Given the description of an element on the screen output the (x, y) to click on. 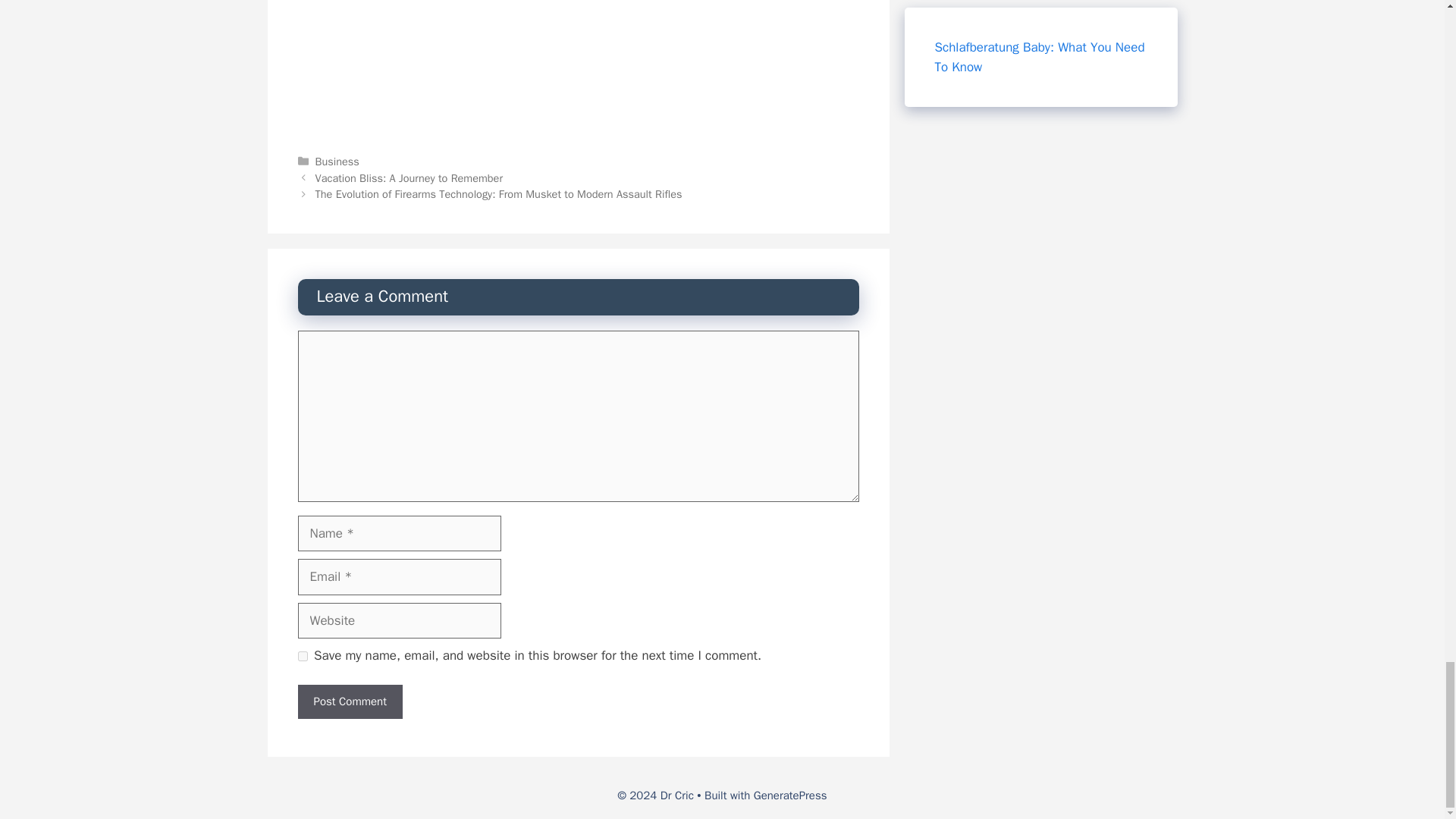
Business (337, 161)
Vacation Bliss: A Journey to Remember (408, 178)
Post Comment (349, 701)
GeneratePress (790, 795)
Post Comment (349, 701)
yes (302, 655)
